Given the description of an element on the screen output the (x, y) to click on. 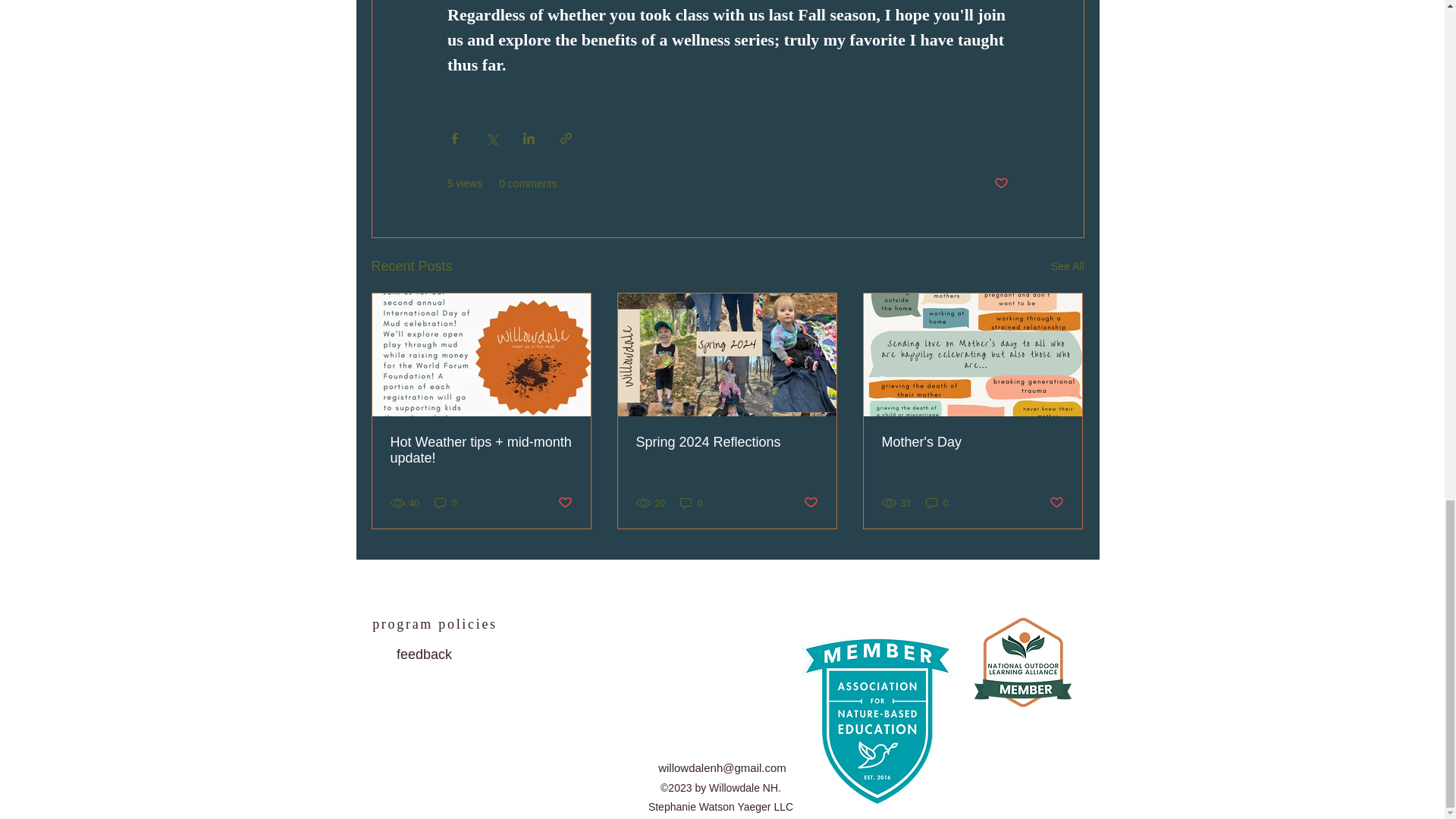
Mother's Day (971, 442)
0 (445, 503)
program policies (435, 624)
Post not marked as liked (1056, 503)
0 (937, 503)
Spring 2024 Reflections (725, 442)
See All (1067, 266)
Post not marked as liked (810, 503)
0 (691, 503)
Post not marked as liked (564, 503)
